Given the description of an element on the screen output the (x, y) to click on. 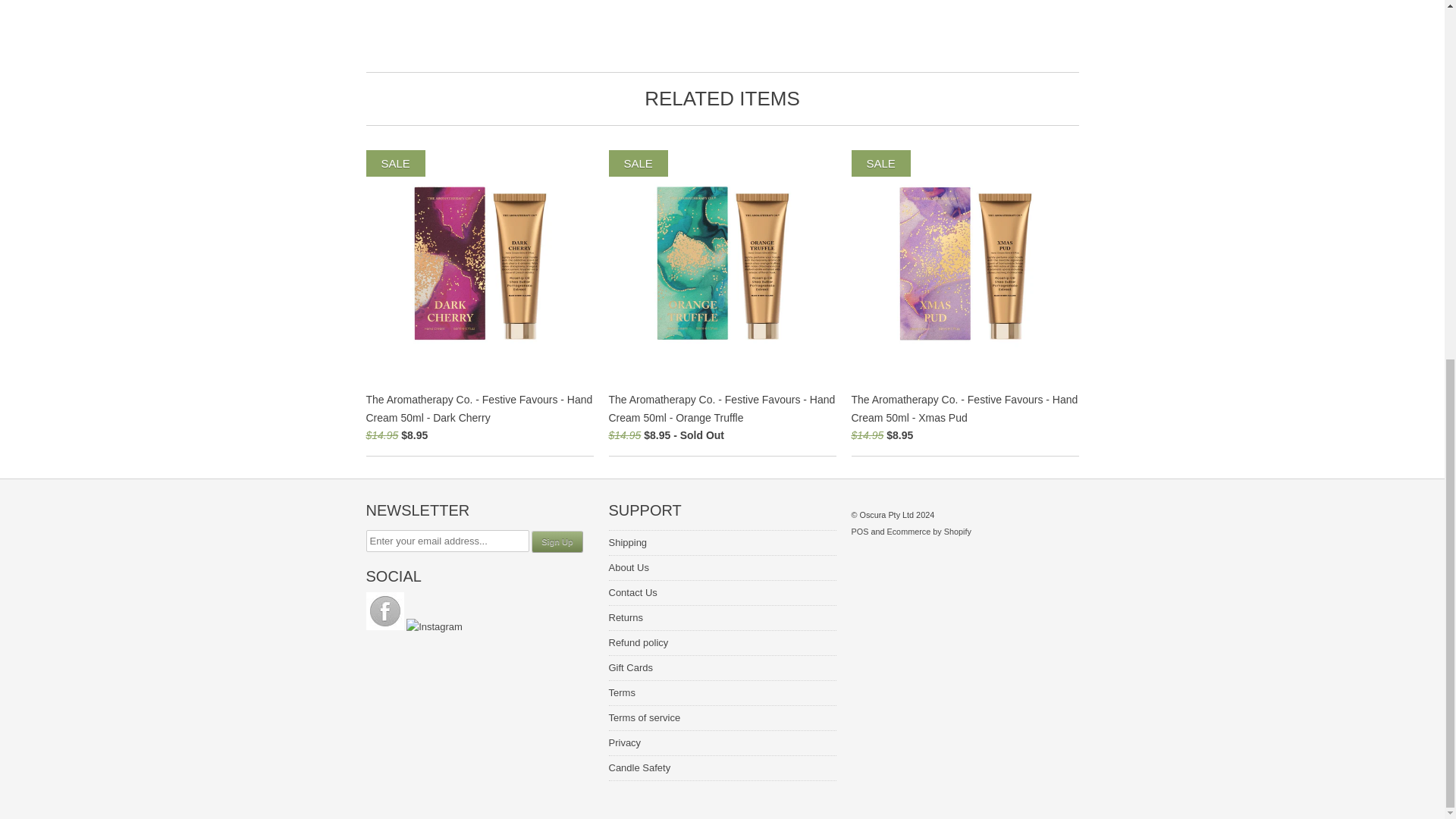
Sign Up (557, 541)
